Given the description of an element on the screen output the (x, y) to click on. 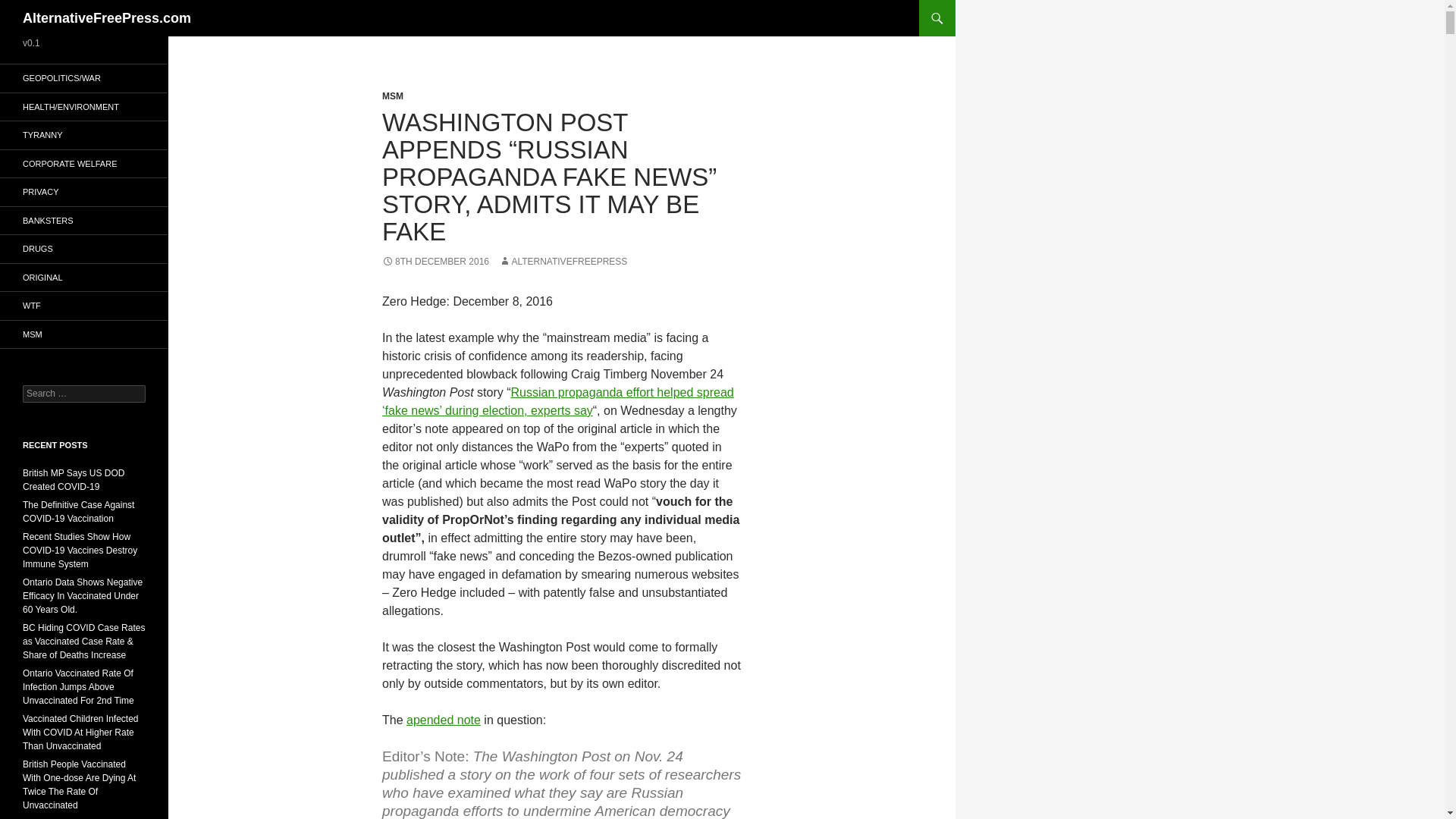
British MP Says US DOD Created COVID-19 (73, 479)
PRIVACY (84, 192)
ALTERNATIVEFREEPRESS (563, 261)
apended note (443, 719)
WTF (84, 305)
TYRANNY (84, 135)
MSM (84, 334)
BANKSTERS (84, 220)
Search (30, 8)
